Given the description of an element on the screen output the (x, y) to click on. 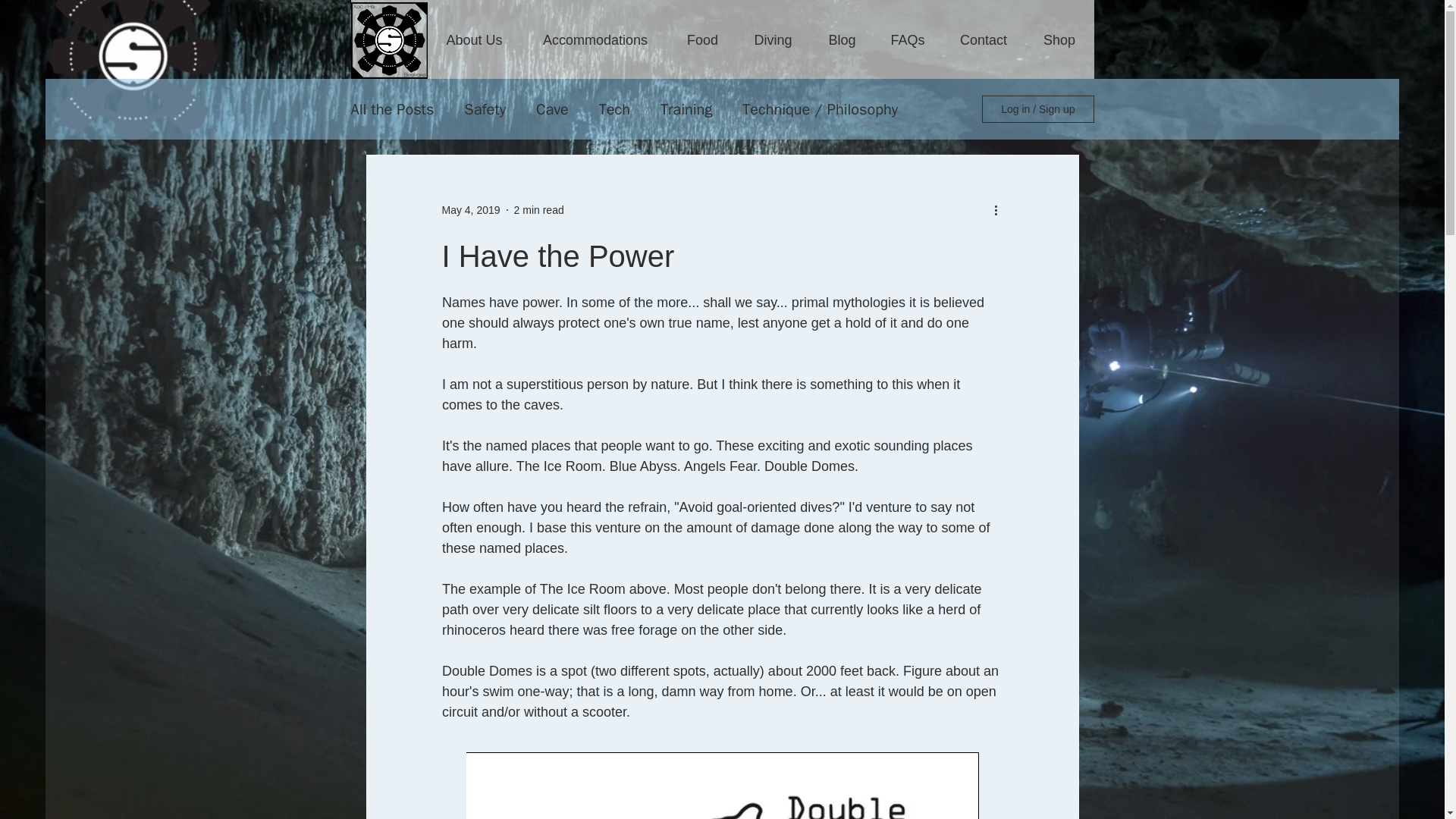
Blog (841, 39)
Contact (984, 39)
Accommodations (595, 39)
Safety (484, 108)
2 min read (538, 209)
Tech (614, 108)
Food (701, 39)
Shop (1059, 39)
All the Posts (391, 108)
Diving (772, 39)
Training (686, 108)
May 4, 2019 (470, 209)
Cave (552, 108)
